Given the description of an element on the screen output the (x, y) to click on. 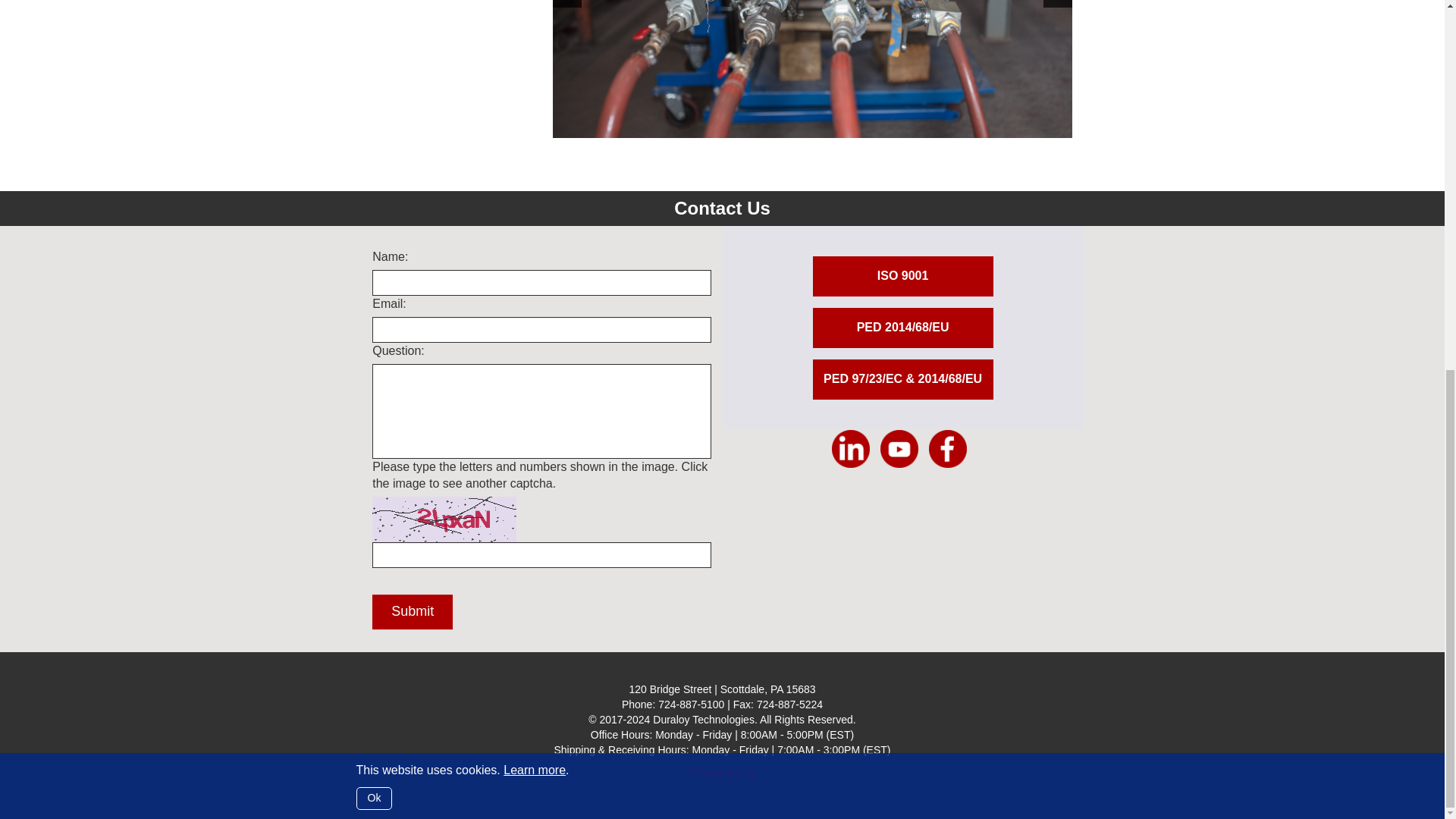
Learn more (534, 98)
Submit (412, 611)
ISO 9001 (902, 276)
